Given the description of an element on the screen output the (x, y) to click on. 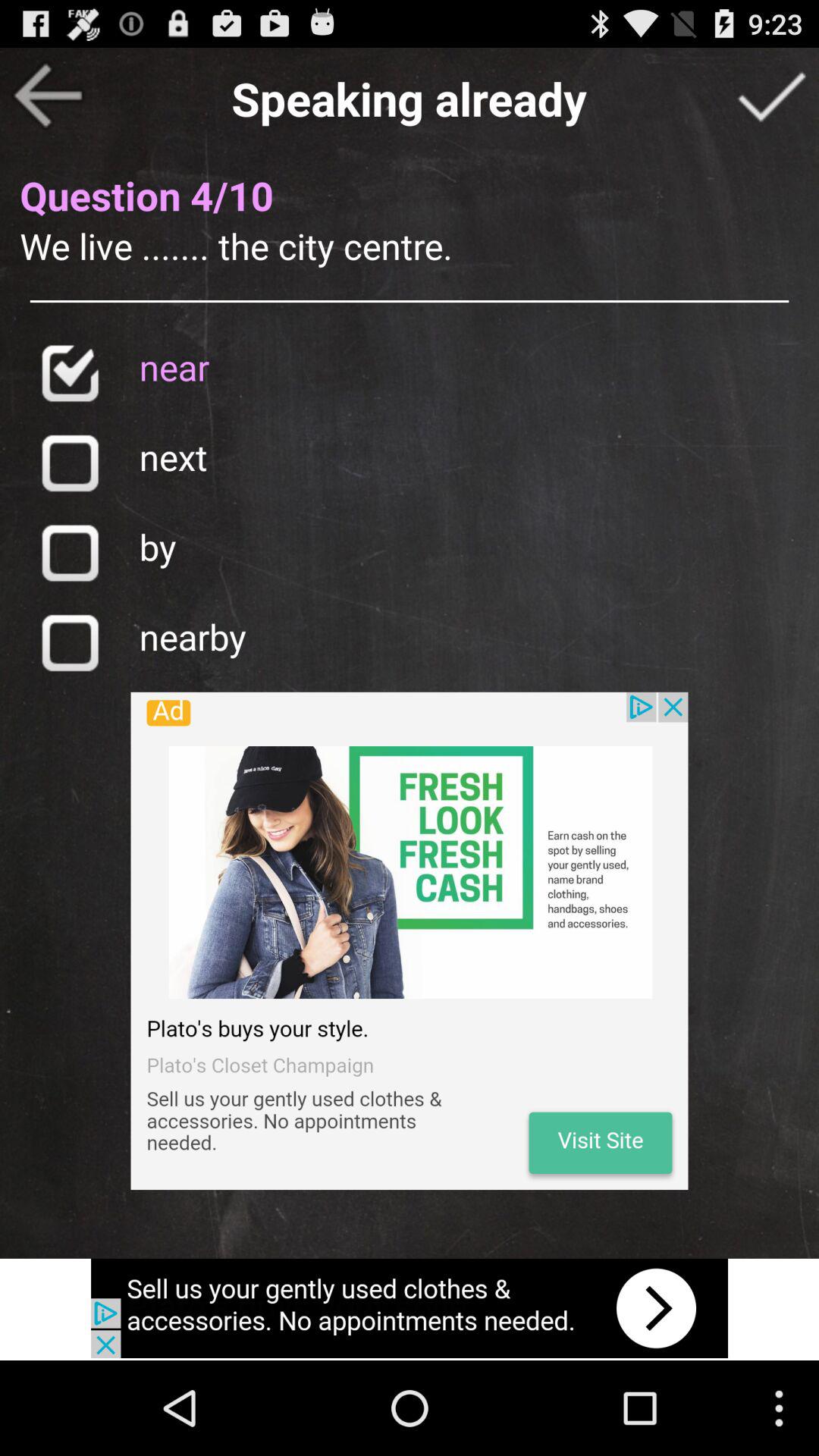
go to previous (47, 95)
